Given the description of an element on the screen output the (x, y) to click on. 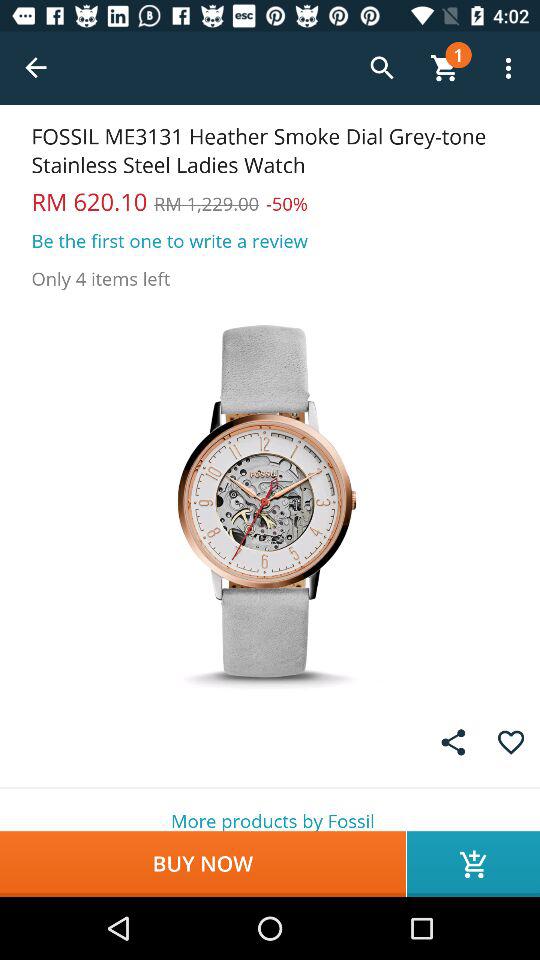
open item below the only 4 items icon (269, 500)
